Given the description of an element on the screen output the (x, y) to click on. 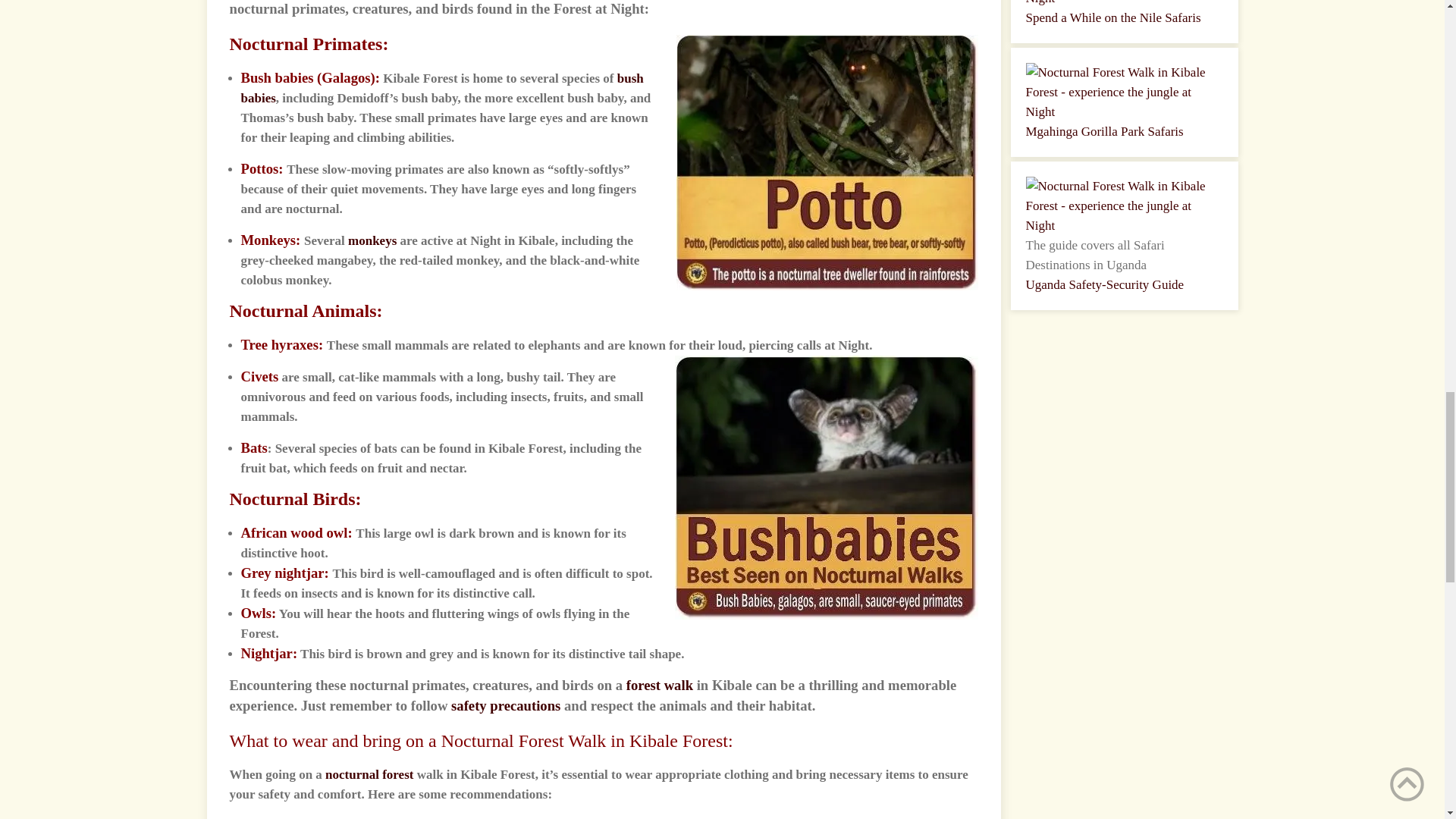
forest walk (659, 684)
African (263, 532)
bush babies (442, 88)
safety precautions (505, 705)
nocturnal forest (368, 774)
monkeys (371, 240)
